Given the description of an element on the screen output the (x, y) to click on. 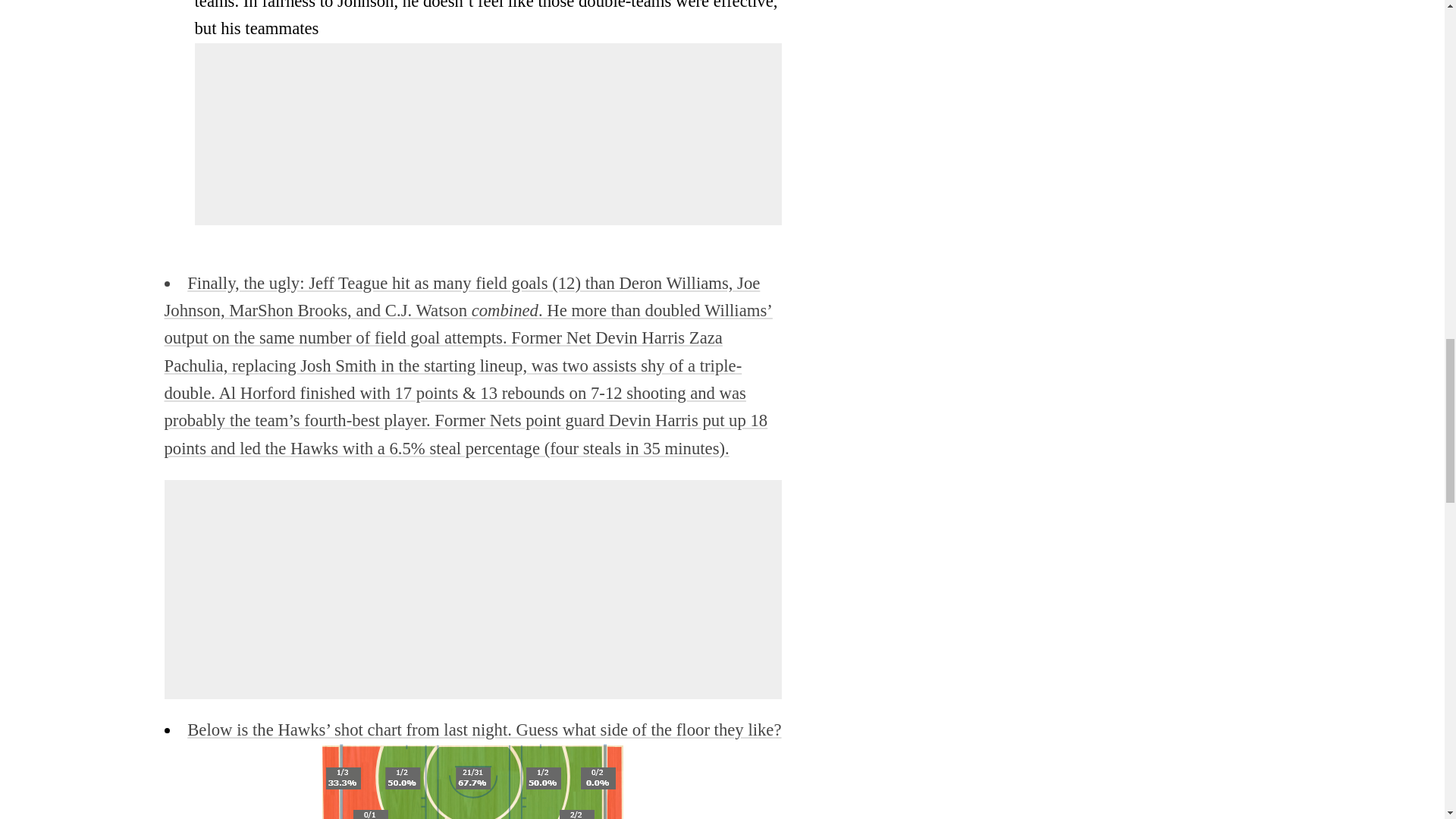
3rd party ad content (307, 134)
leftright (473, 781)
3rd party ad content (472, 589)
